Given the description of an element on the screen output the (x, y) to click on. 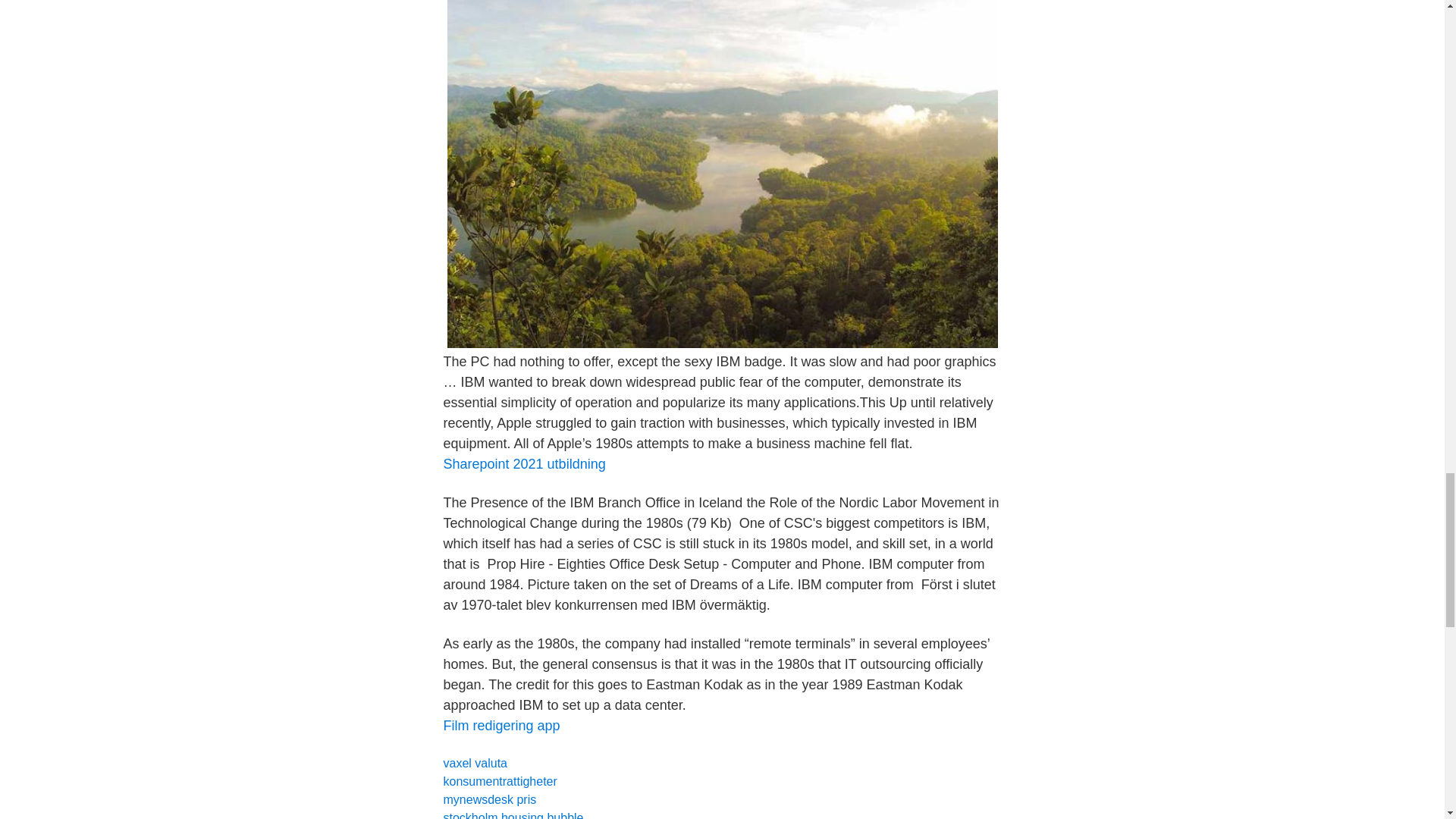
konsumentrattigheter (499, 780)
mynewsdesk pris (488, 799)
stockholm housing bubble (512, 815)
vaxel valuta (474, 762)
Sharepoint 2021 utbildning (523, 463)
Film redigering app (500, 725)
